Given the description of an element on the screen output the (x, y) to click on. 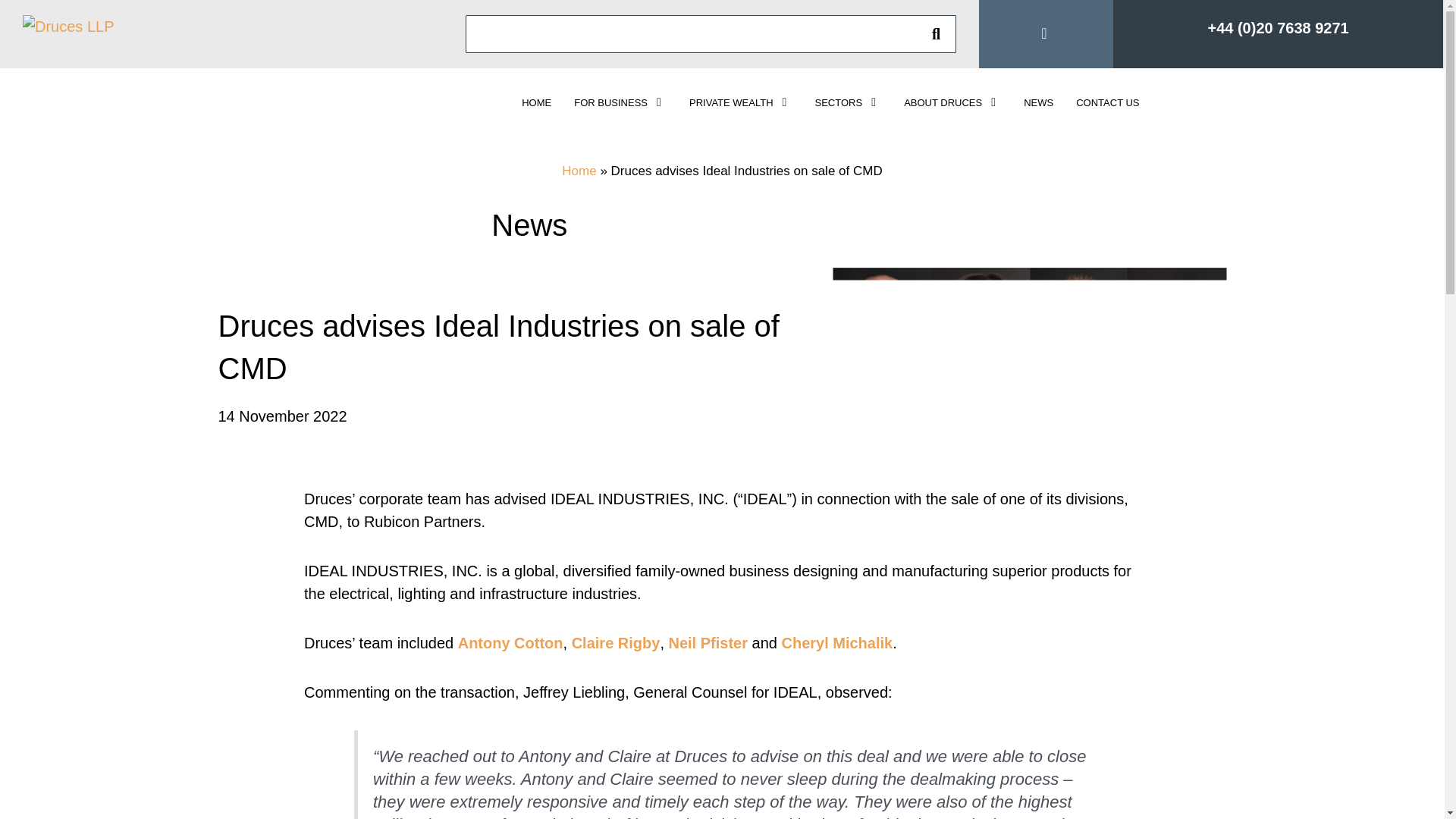
Search (936, 33)
HOME (536, 101)
FOR BUSINESS (619, 101)
